Given the description of an element on the screen output the (x, y) to click on. 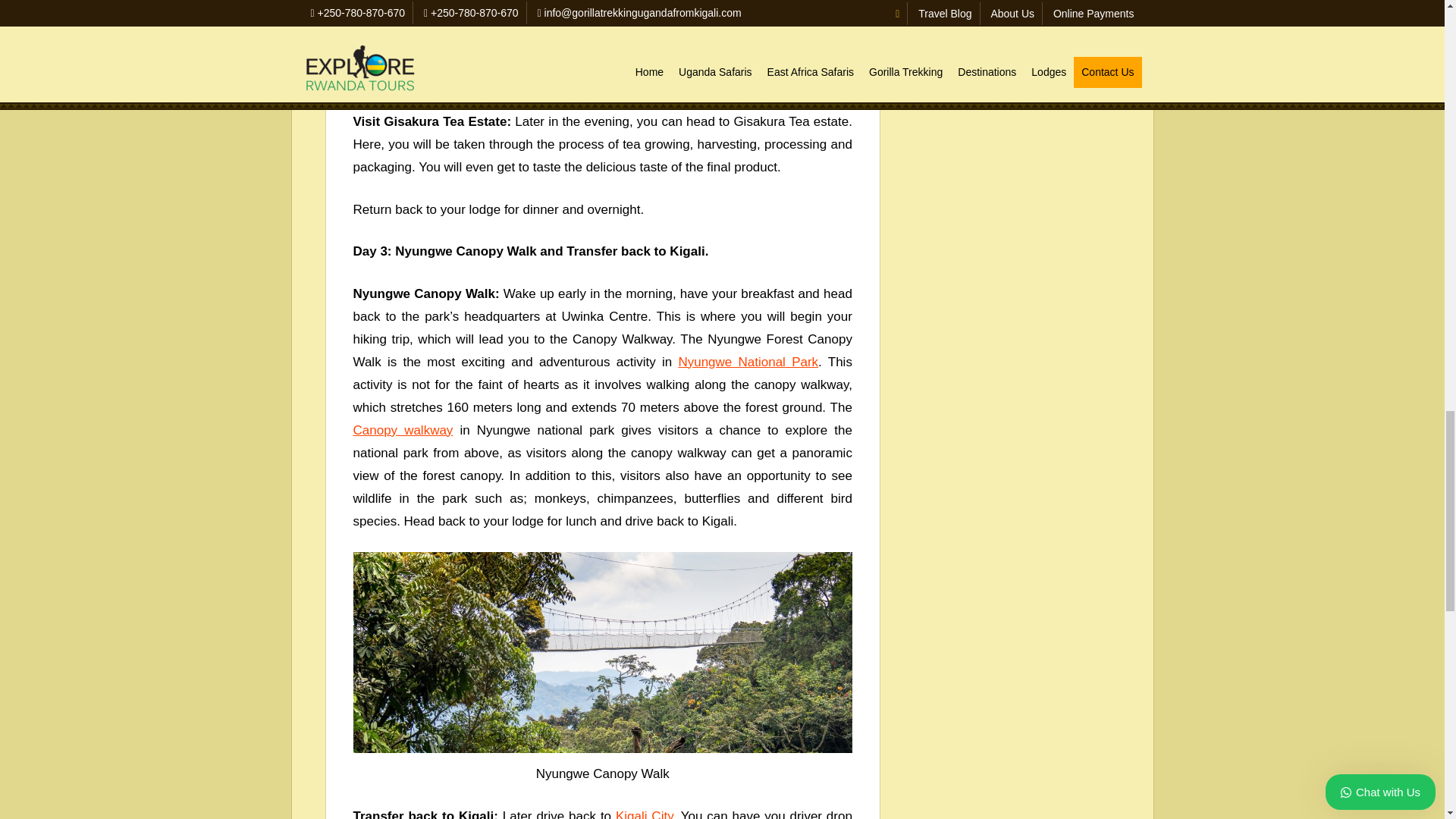
Kigali City (643, 814)
Canopy walkway (402, 430)
Nyungwe National Park (748, 361)
